Given the description of an element on the screen output the (x, y) to click on. 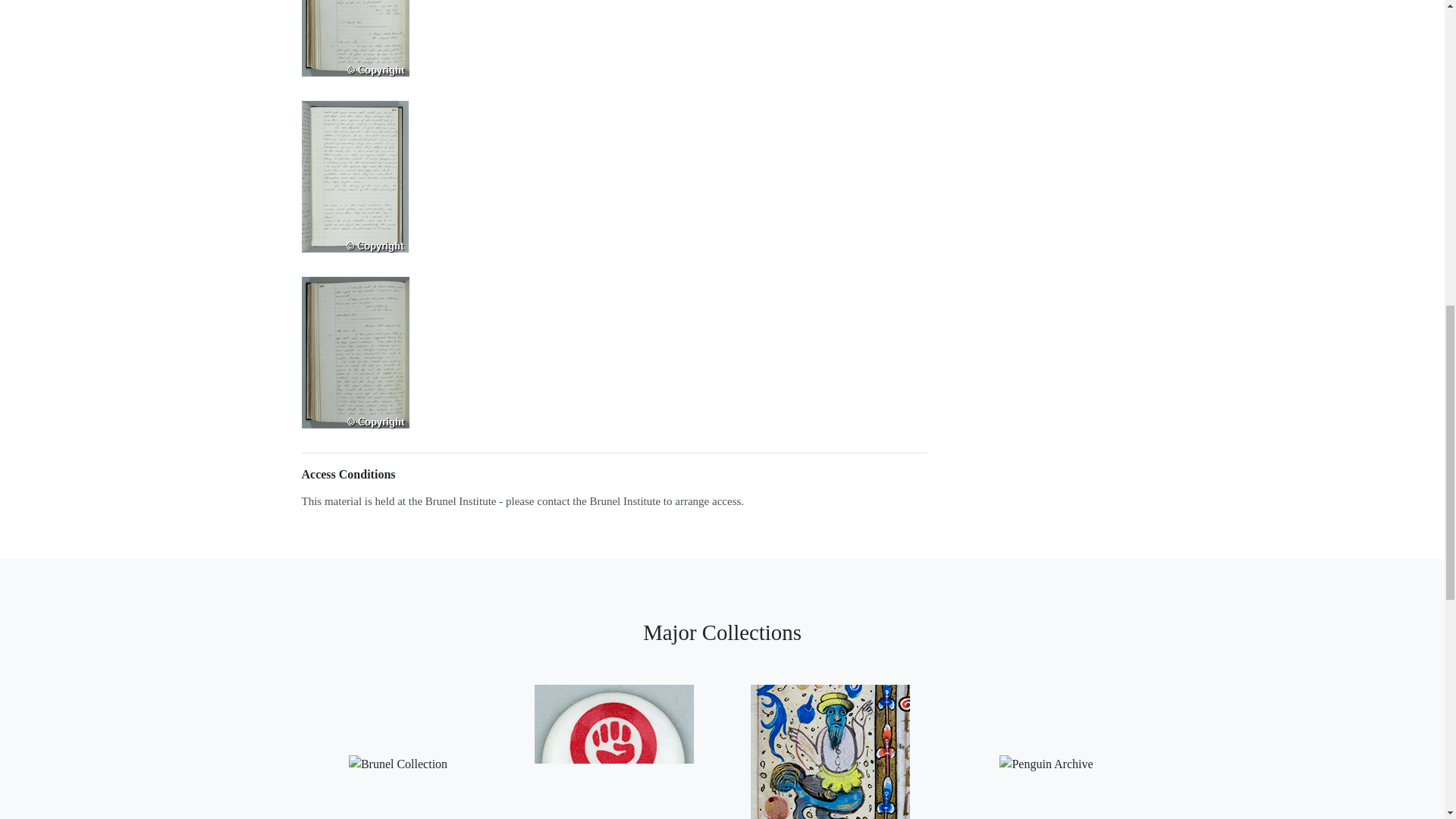
Penguin Archive (1045, 744)
Brunel Collection (398, 744)
Medieval Manuscripts (830, 744)
Feminist Archive South (613, 744)
